Given the description of an element on the screen output the (x, y) to click on. 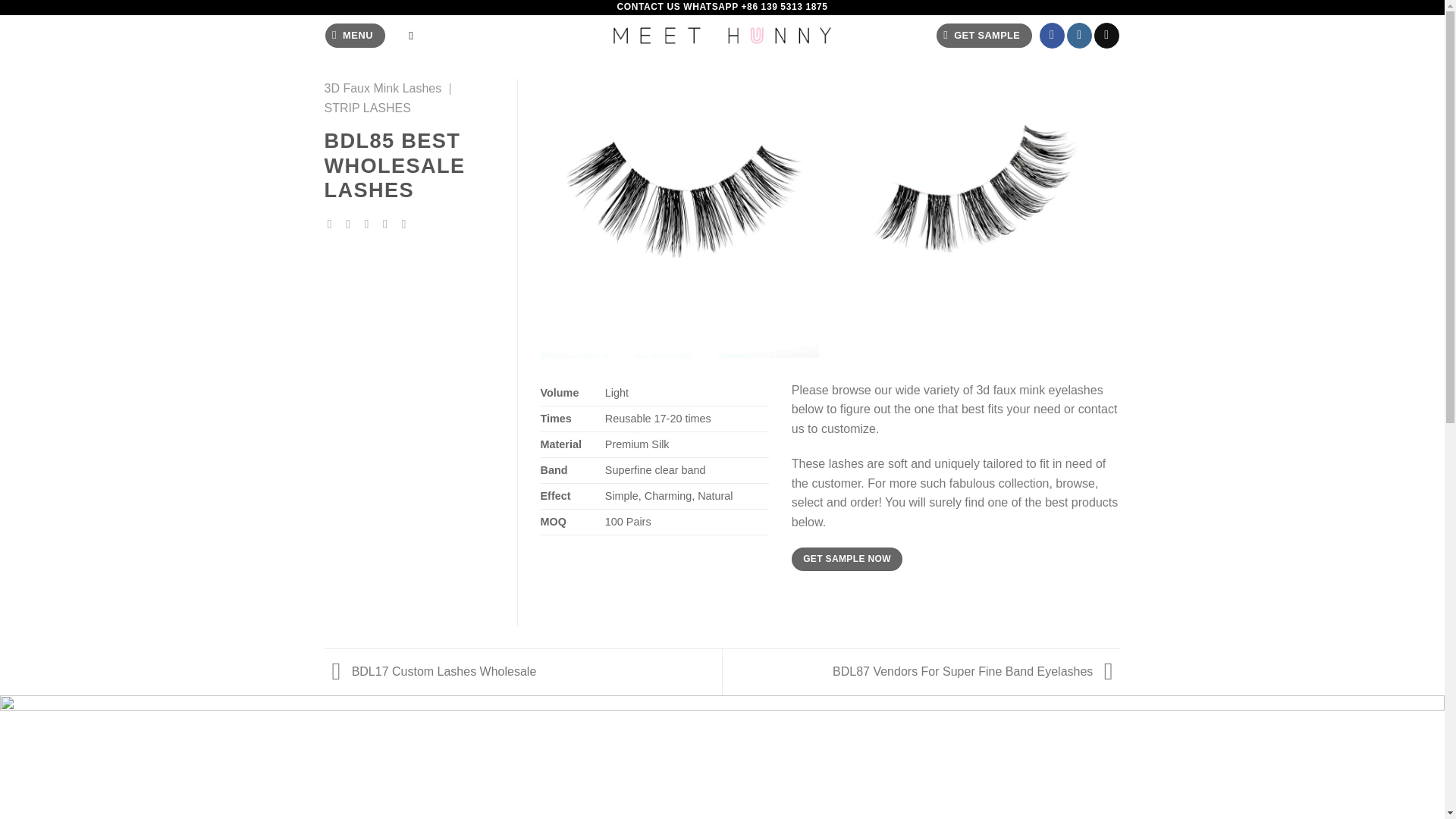
3D Faux Mink Lashes (383, 88)
GET SAMPLE (983, 35)
Sign up for Newsletter (983, 35)
BDL17 Custom Lashes Wholesale (430, 671)
BDL87 Vendors For Super Fine Band Eyelashes (975, 671)
GET SAMPLE NOW (847, 558)
Send us an email (1106, 35)
BDL87 Vendors For Super Fine Band Eyelashes (975, 671)
Follow on Instagram (1079, 35)
Follow on Facebook (1051, 35)
MENU (354, 35)
STRIP LASHES (367, 107)
BDL17 Custom Lashes Wholesale (430, 671)
